Given the description of an element on the screen output the (x, y) to click on. 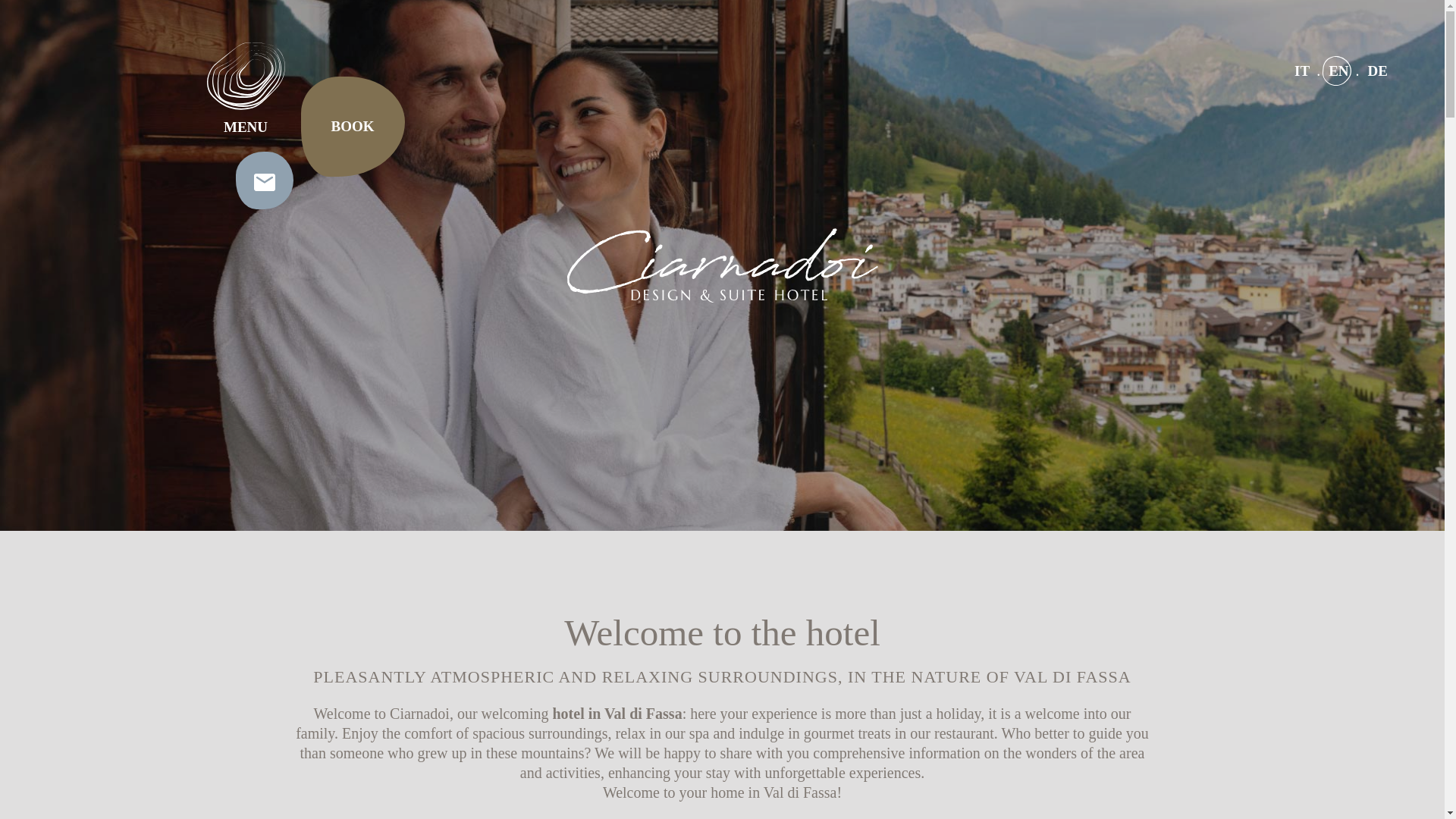
DE (1377, 71)
BOOK (351, 126)
EN (1337, 71)
